Given the description of an element on the screen output the (x, y) to click on. 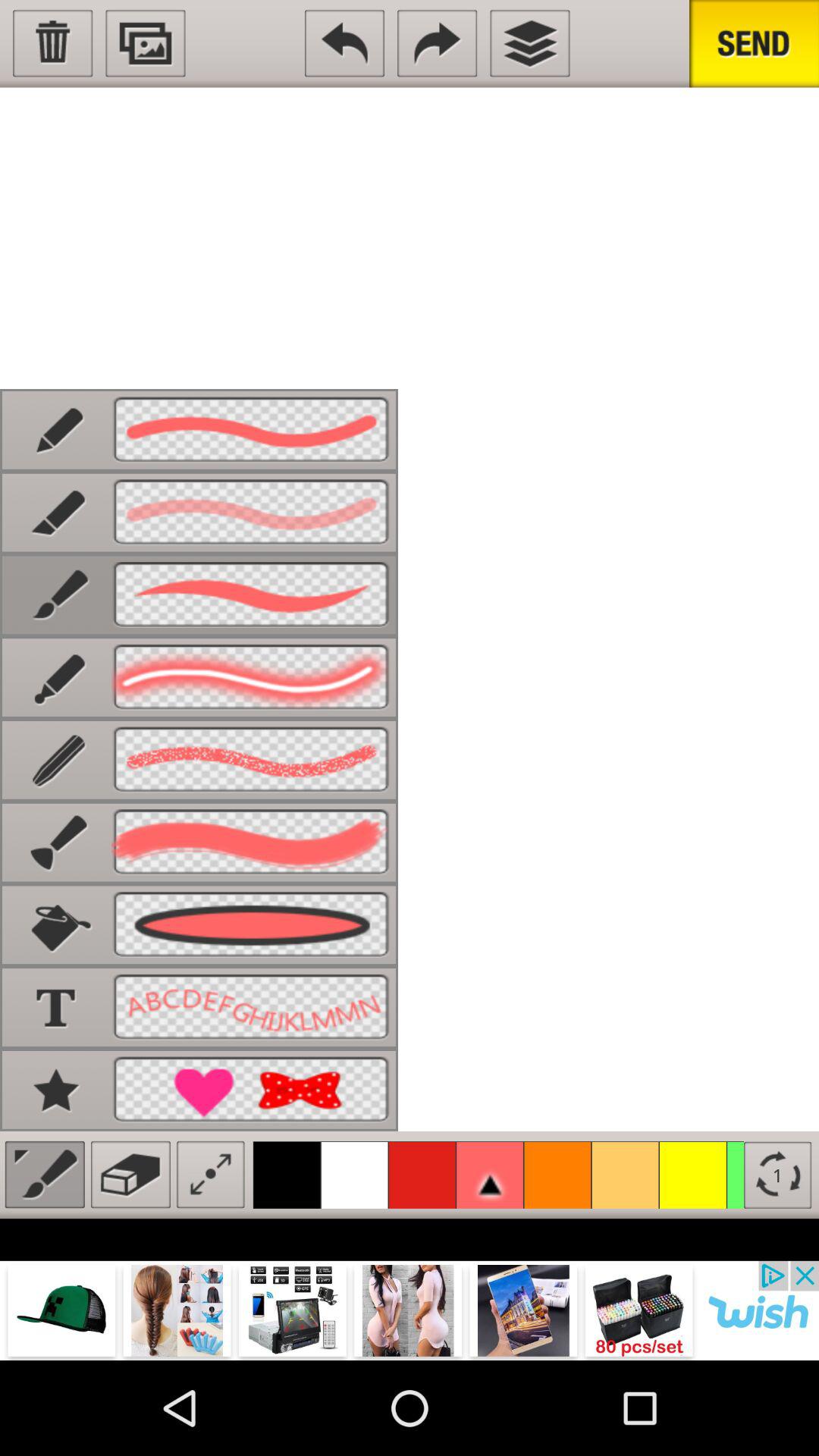
duplicate merge and reorder layers (529, 43)
